Given the description of an element on the screen output the (x, y) to click on. 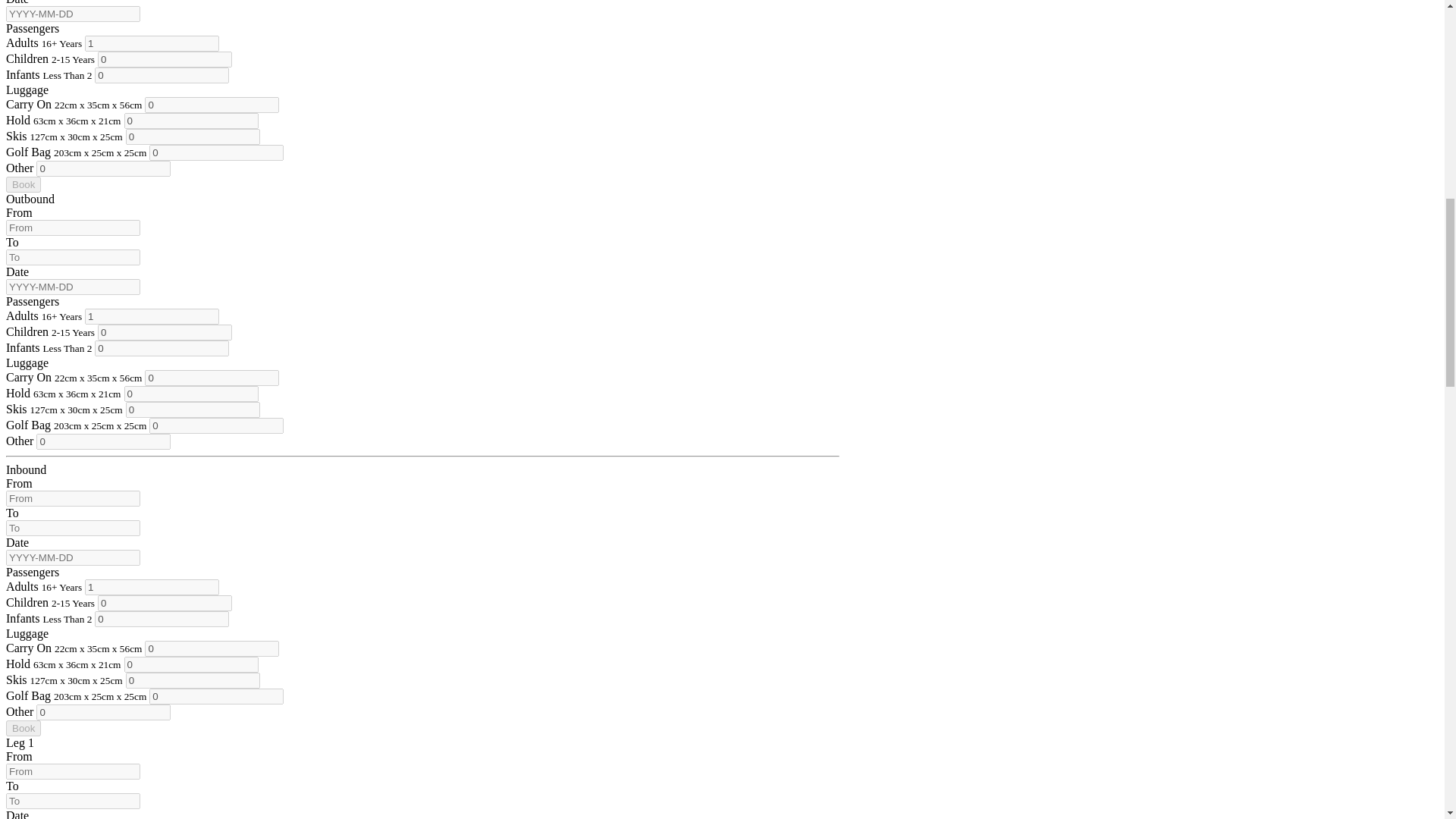
1 (151, 316)
1 (151, 43)
0 (211, 377)
0 (211, 105)
0 (192, 409)
0 (192, 136)
0 (161, 75)
0 (164, 332)
0 (216, 152)
0 (191, 393)
0 (161, 348)
0 (103, 168)
0 (164, 59)
0 (191, 120)
